Given the description of an element on the screen output the (x, y) to click on. 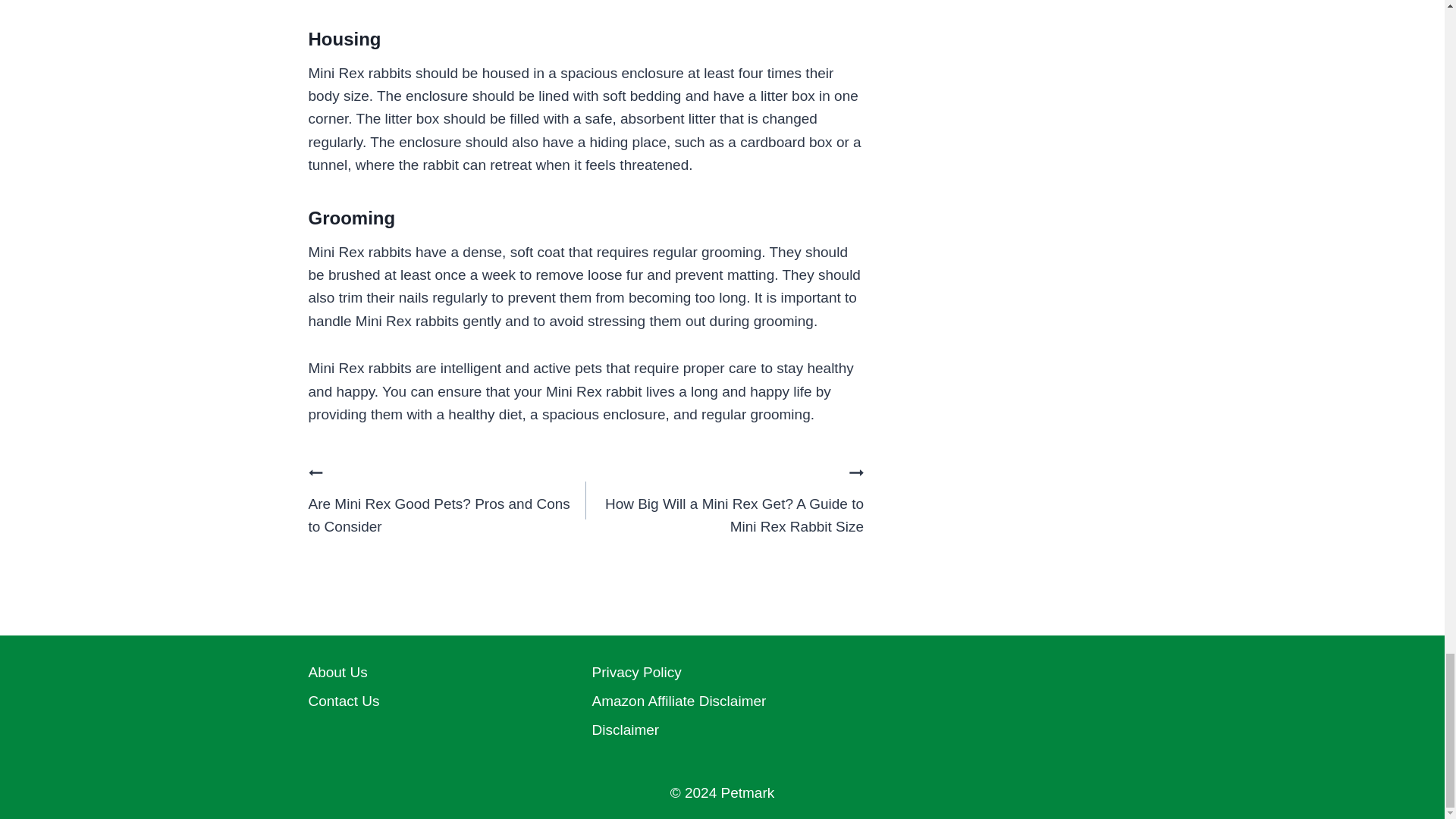
Privacy Policy (721, 672)
  Are Mini Rex Good Pets? Pros and Cons to Consider (446, 500)
Contact Us (438, 701)
Disclaimer (721, 729)
About Us (438, 672)
Amazon Affiliate Disclaimer (721, 701)
